Given the description of an element on the screen output the (x, y) to click on. 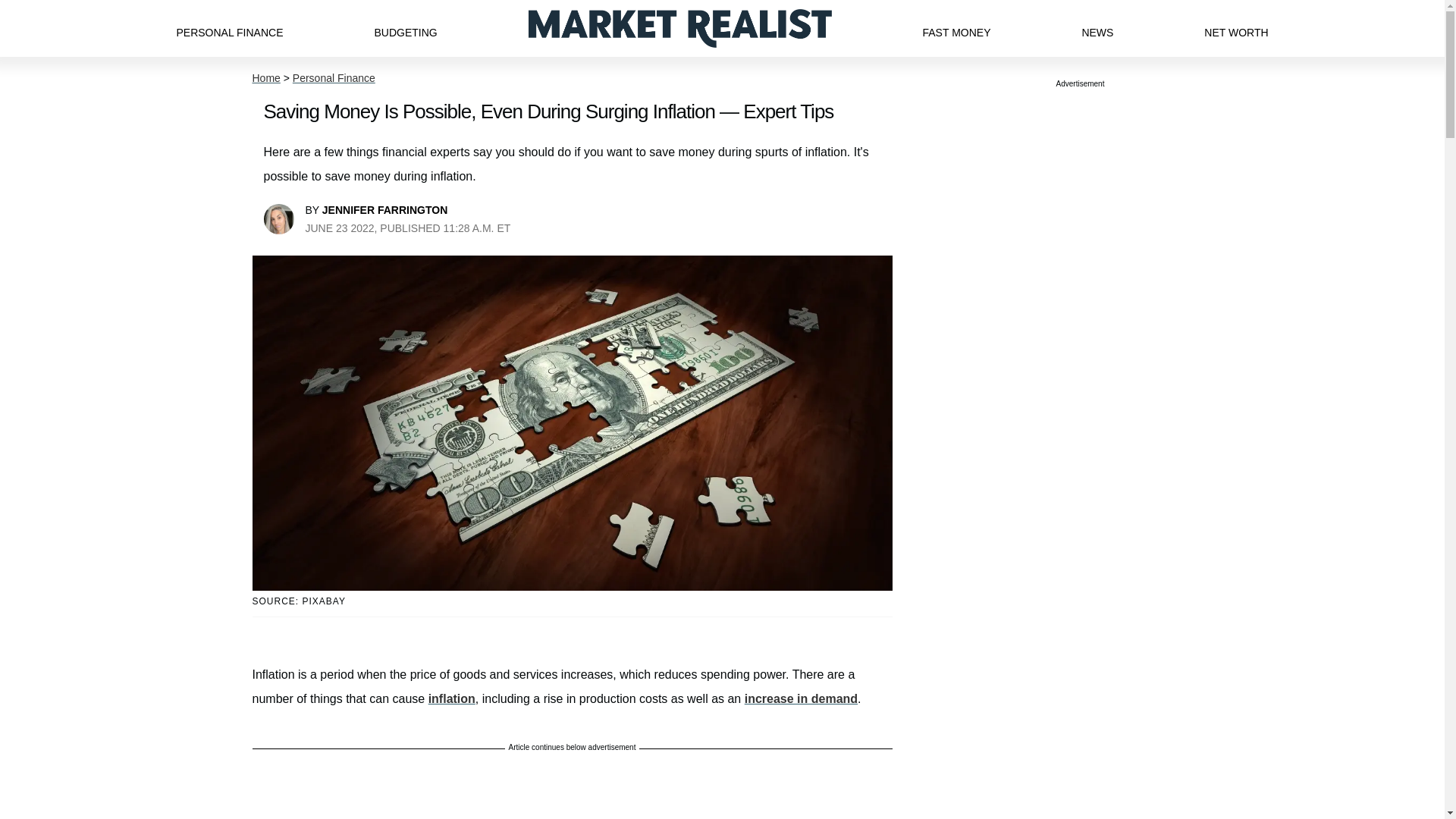
Home (265, 78)
PERSONAL FINANCE (229, 27)
NET WORTH (1236, 27)
NEWS (1097, 27)
inflation (452, 698)
FAST MONEY (955, 27)
Personal Finance (333, 78)
BUDGETING (405, 27)
JENNIFER FARRINGTON (383, 209)
increase in demand (800, 698)
